Given the description of an element on the screen output the (x, y) to click on. 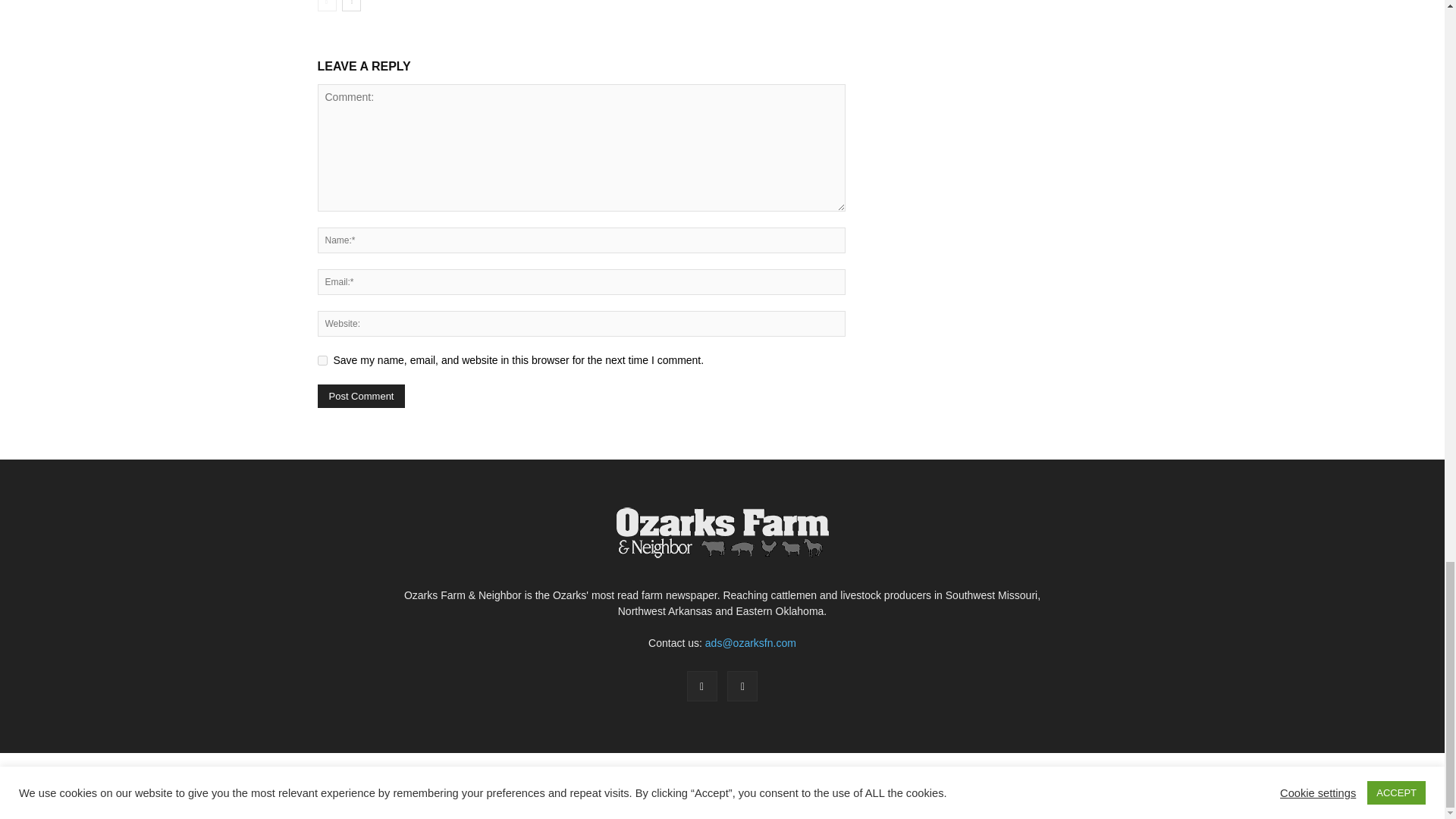
Post Comment (360, 395)
yes (321, 360)
